Given the description of an element on the screen output the (x, y) to click on. 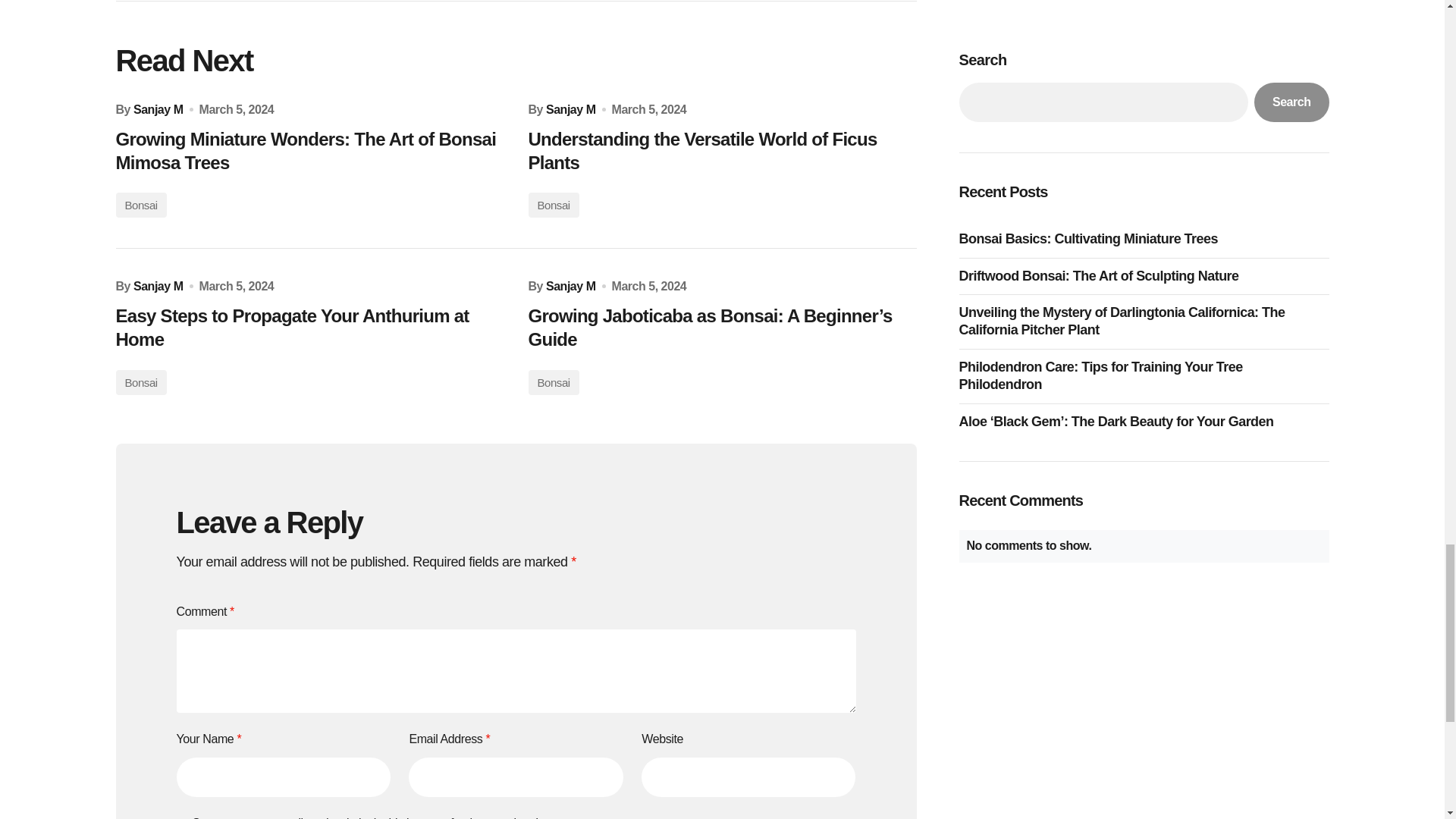
Bonsai (140, 382)
Sanjay M (570, 286)
Growing Miniature Wonders: The Art of Bonsai Mimosa Trees (309, 150)
Sanjay M (570, 108)
Bonsai (140, 204)
Sanjay M (158, 108)
Easy Steps to Propagate Your Anthurium at Home (309, 327)
Understanding the Versatile World of Ficus Plants (721, 150)
Sanjay M (158, 286)
Bonsai (552, 204)
